Given the description of an element on the screen output the (x, y) to click on. 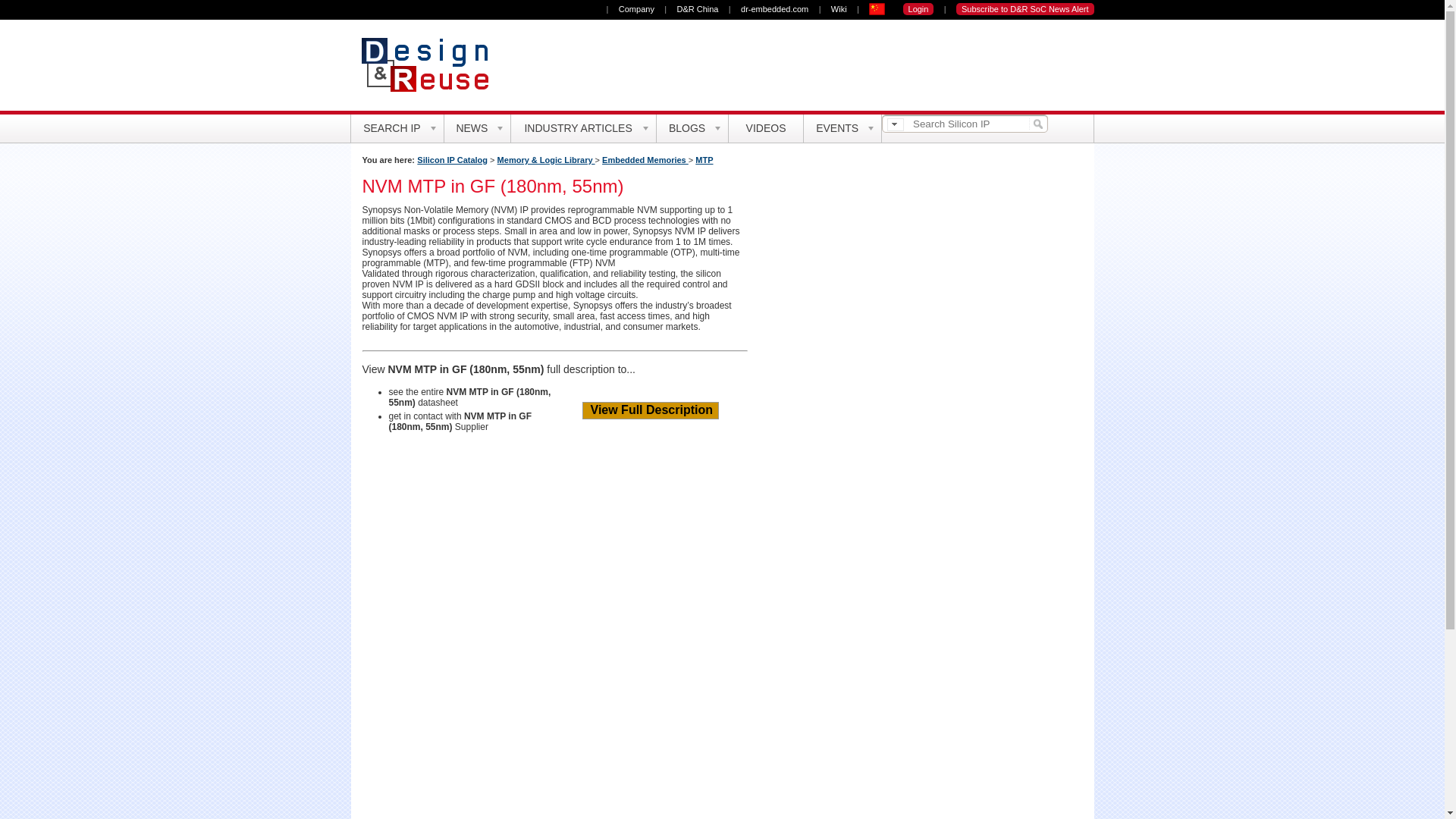
Login (918, 9)
dr-embedded.com (774, 8)
View Full Description (650, 410)
search (1036, 123)
SEARCH IP (397, 128)
search filter (895, 124)
Company (635, 8)
Wiki (839, 8)
Design And Reuse (431, 64)
